Given the description of an element on the screen output the (x, y) to click on. 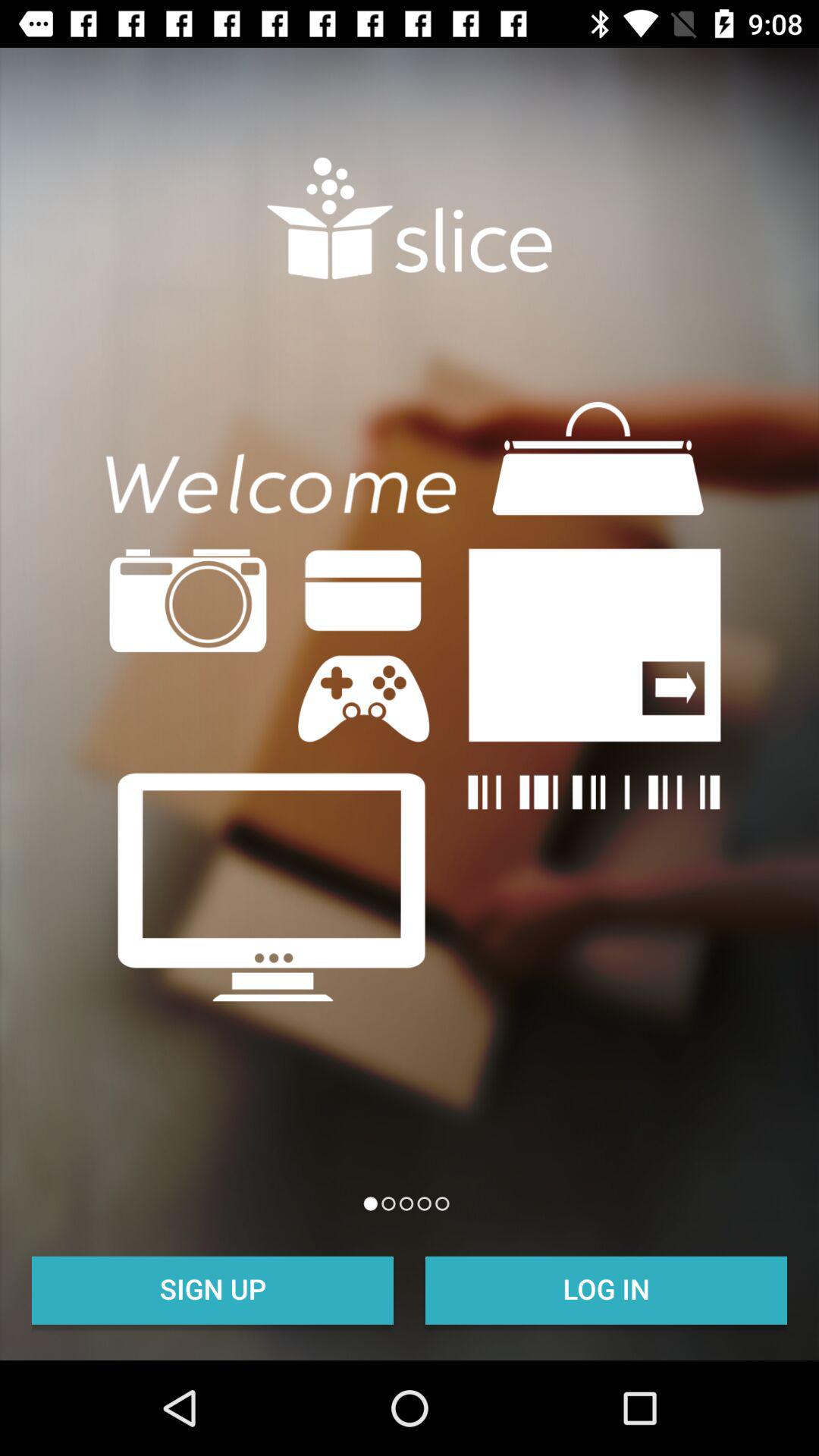
choose item next to the log in item (212, 1288)
